Given the description of an element on the screen output the (x, y) to click on. 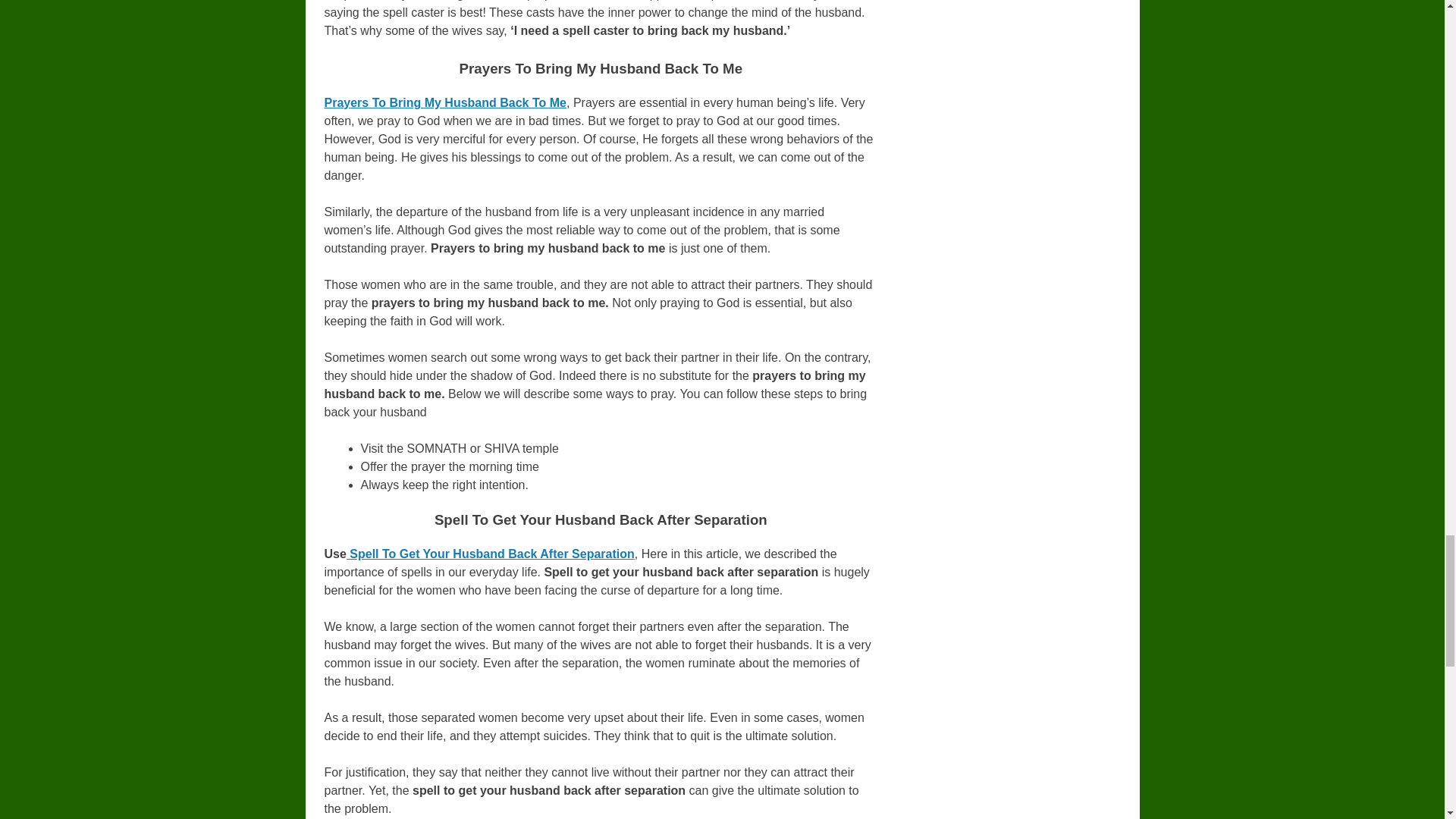
Prayers To Bring My Husband Back To Me (445, 102)
Spell To Get Your Husband Back After Separation (490, 553)
